Given the description of an element on the screen output the (x, y) to click on. 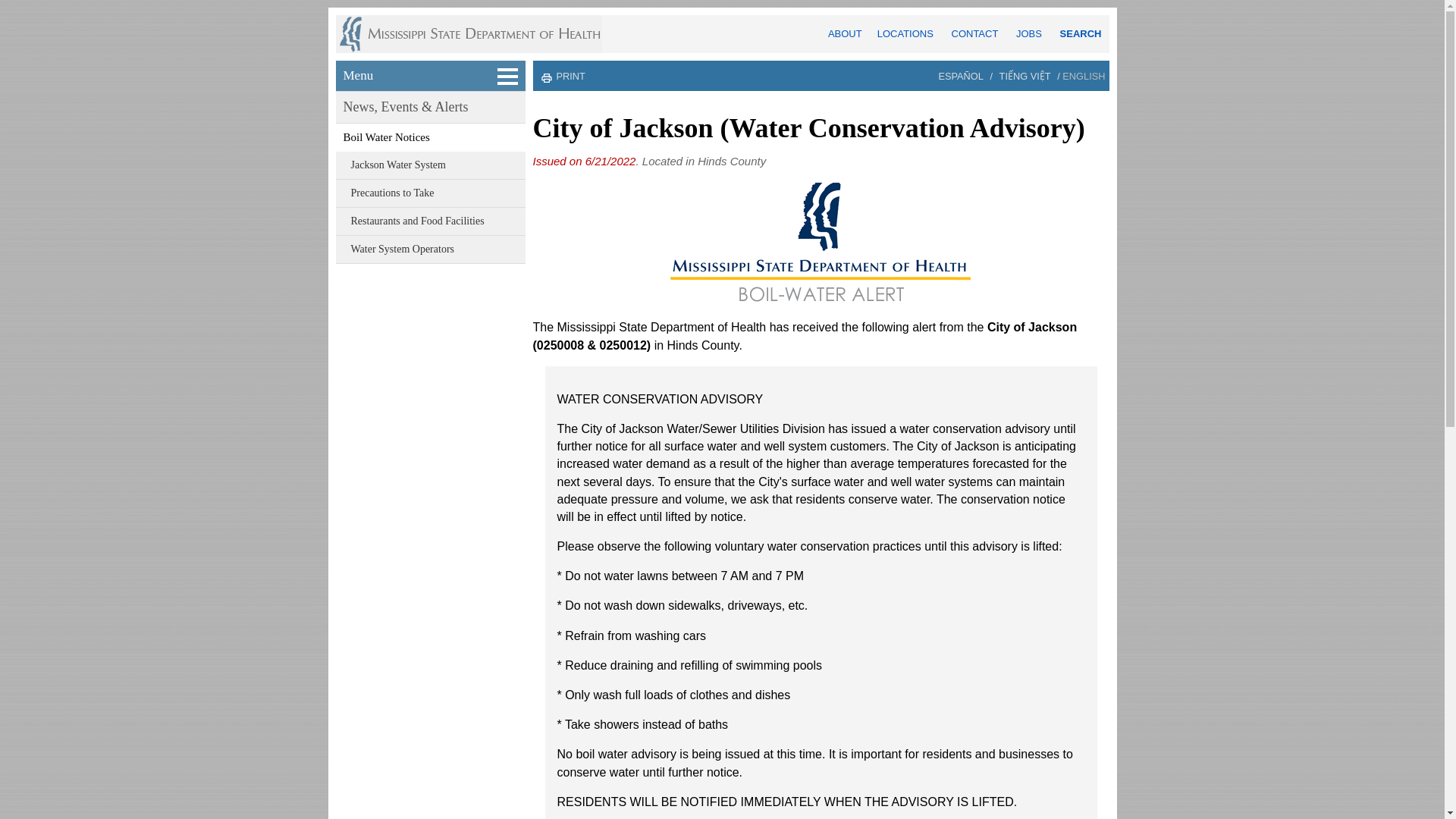
Water System Operators (431, 248)
Jackson Water System (431, 165)
ABOUT (845, 33)
Click to see all website sections (431, 75)
PRINT (569, 75)
Boil Water Notices (431, 137)
Return to the MSDH home page (477, 34)
General information, locations and contact (845, 33)
SEARCH (1080, 33)
Menu (431, 75)
